Given the description of an element on the screen output the (x, y) to click on. 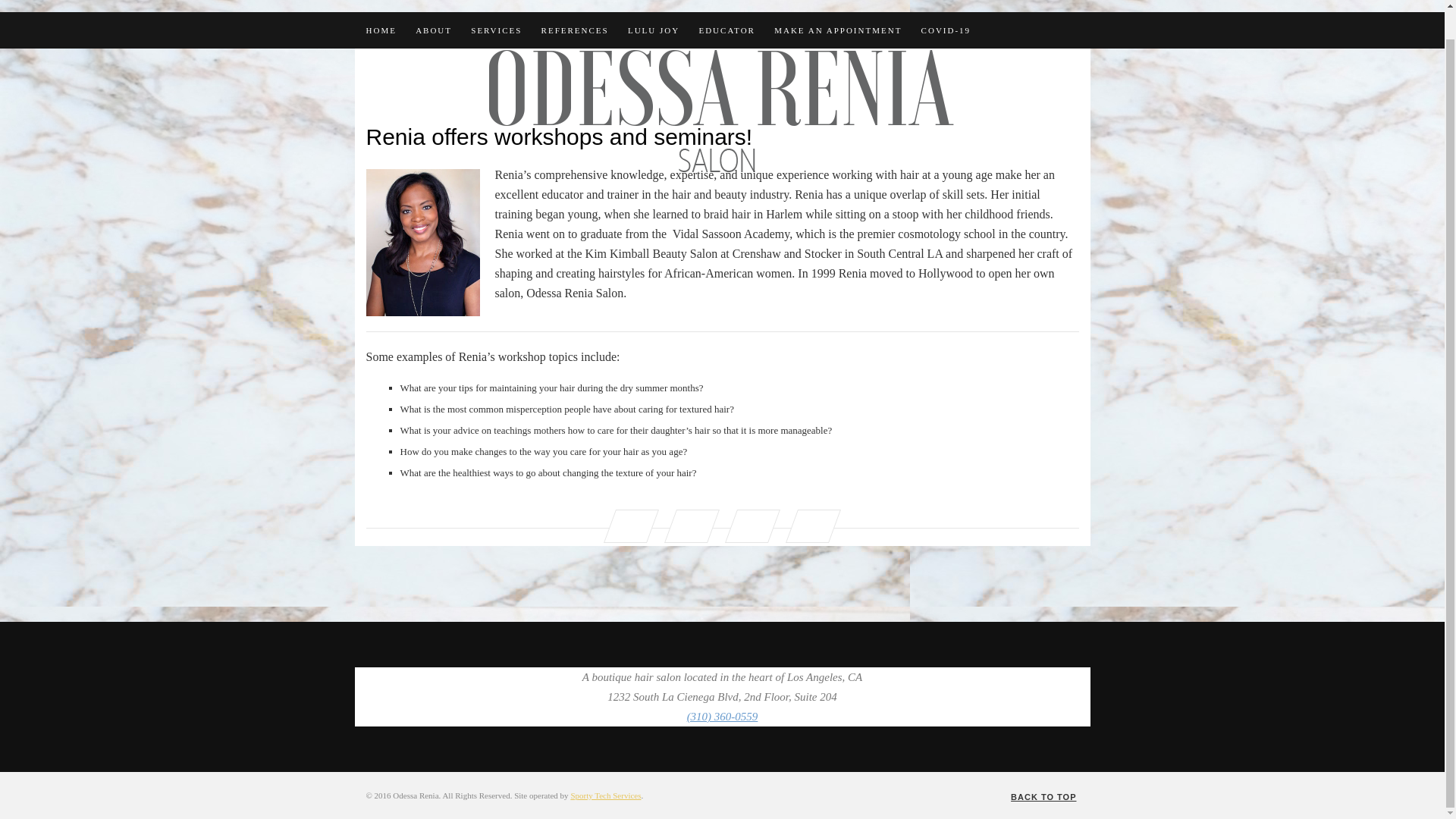
ABOUT (432, 9)
MAKE AN APPOINTMENT (837, 9)
REFERENCES (574, 9)
BACK TO TOP (1044, 796)
LULU JOY (653, 9)
HOME (380, 9)
EDUCATOR (726, 9)
COVID-19 (946, 9)
SERVICES (495, 9)
Sporty Tech Services (605, 795)
